Given the description of an element on the screen output the (x, y) to click on. 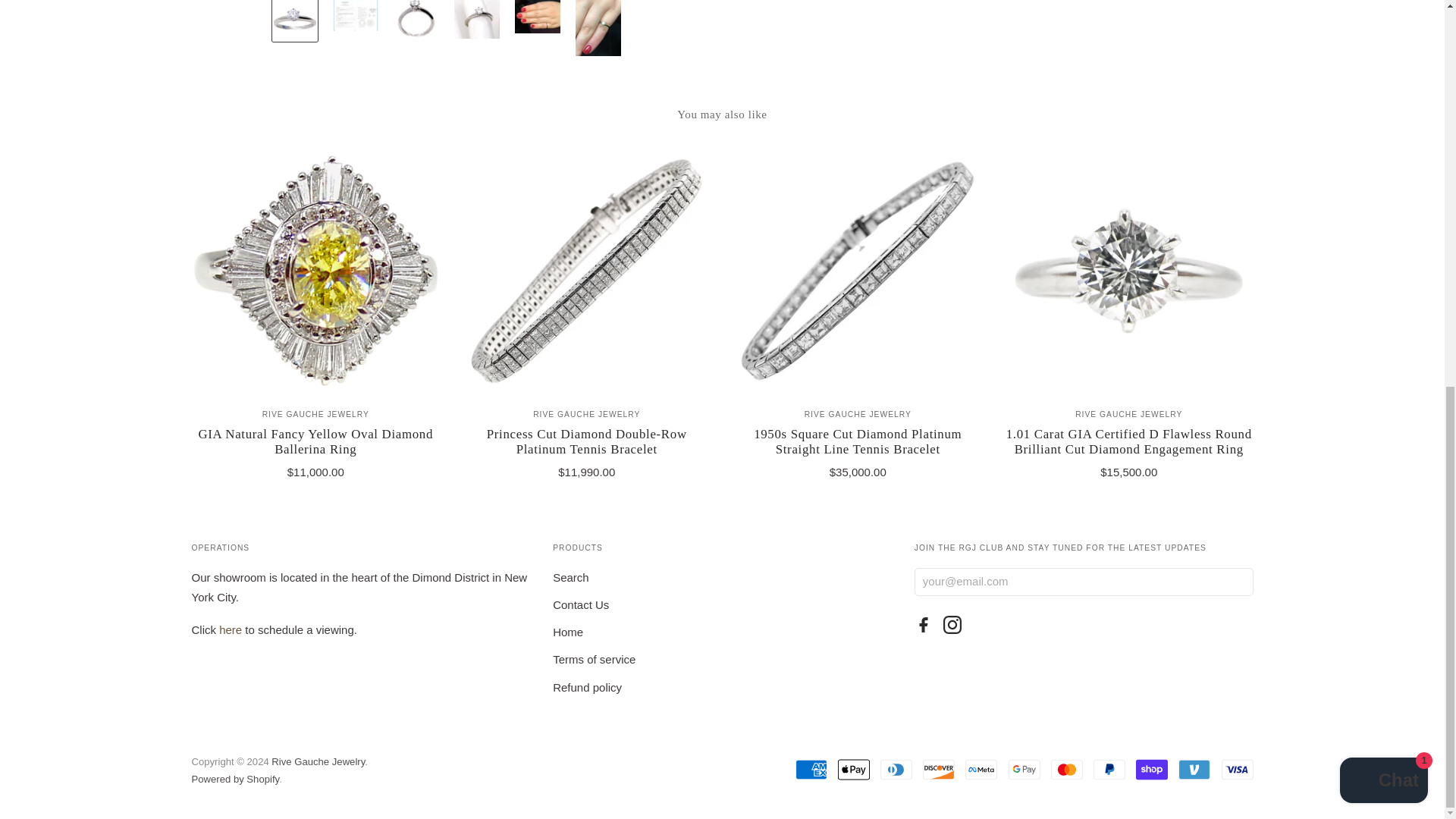
Rive Gauche Jewelry (586, 414)
Contact Us (230, 629)
Rive Gauche Jewelry (315, 414)
Shop Pay (1151, 769)
Diners Club (896, 769)
PayPal (1109, 769)
Rive Gauche Jewelry (1128, 414)
Google Pay (1025, 769)
Mastercard (1067, 769)
Shopify online store chat (1383, 51)
Meta Pay (981, 769)
Discover (939, 769)
Apple Pay (853, 769)
Rive Gauche Jewelry (858, 414)
American Express (810, 769)
